Given the description of an element on the screen output the (x, y) to click on. 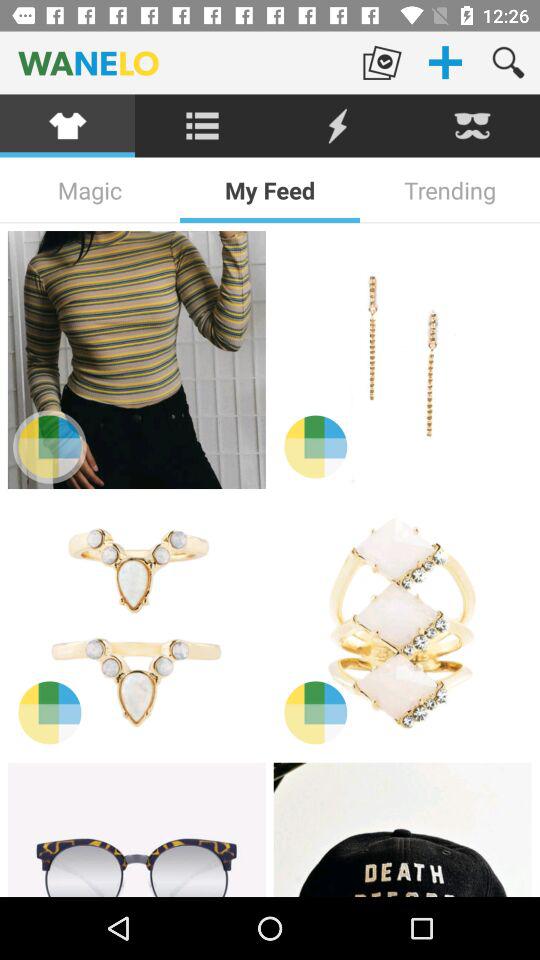
select color (315, 446)
